Given the description of an element on the screen output the (x, y) to click on. 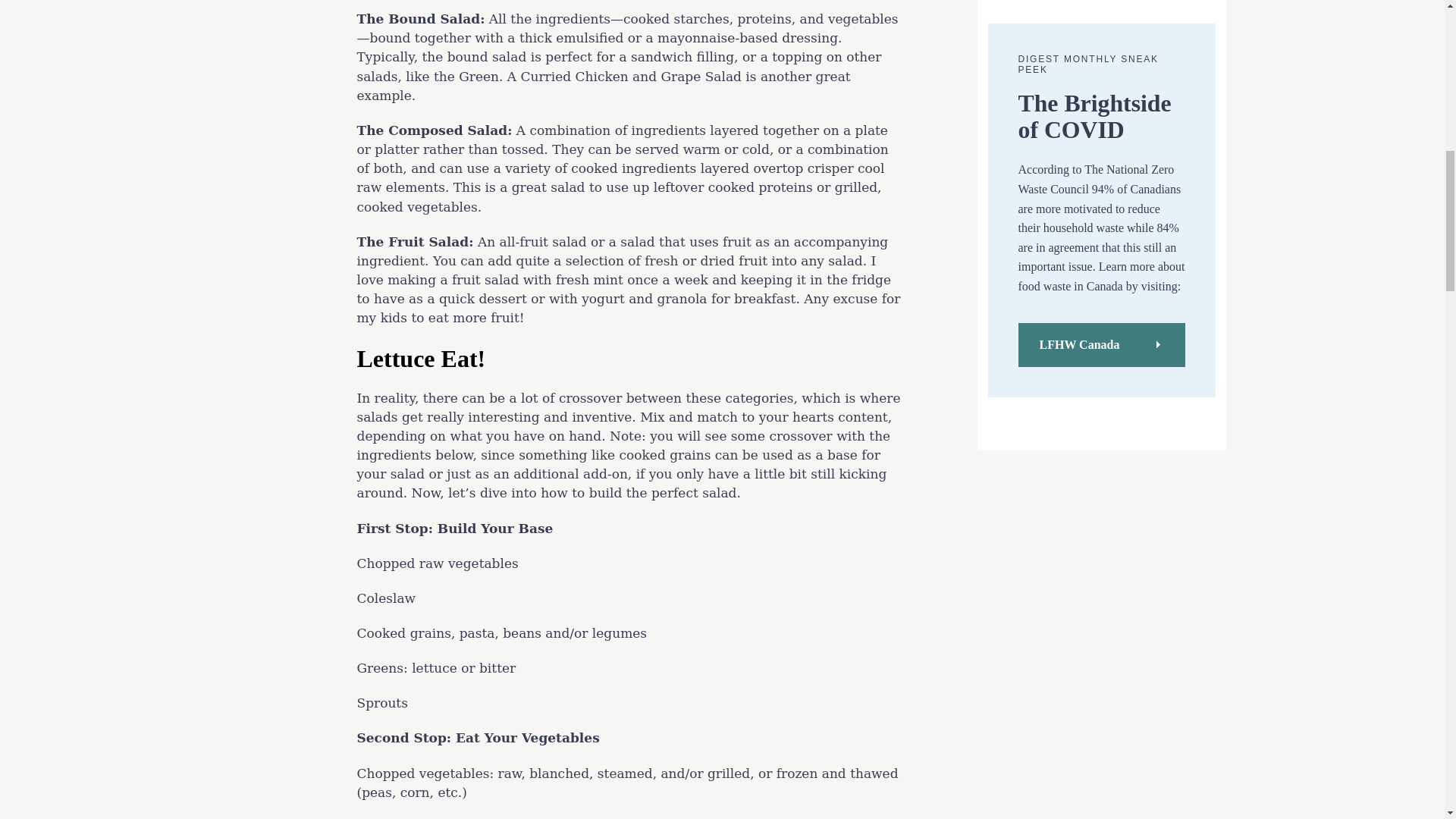
LFHW Canada (1101, 344)
